Given the description of an element on the screen output the (x, y) to click on. 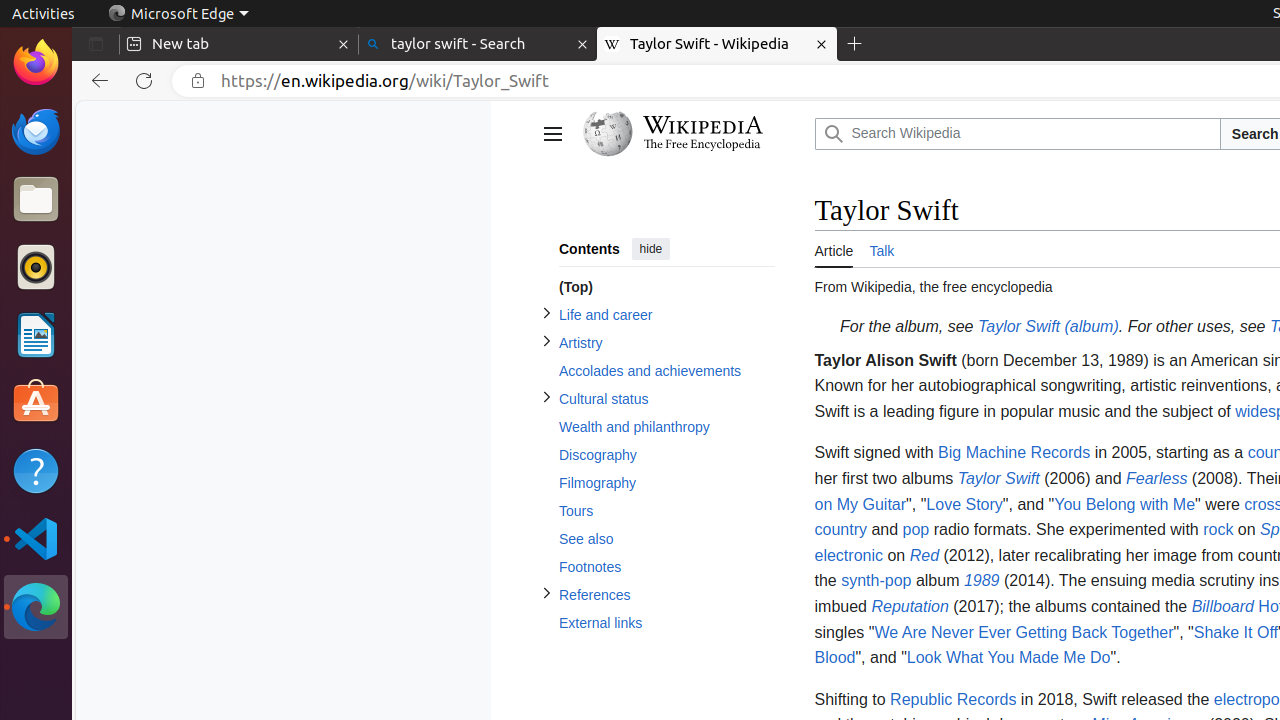
View site information Element type: push-button (198, 81)
Cultural status Element type: link (666, 399)
Tours Element type: link (666, 511)
Rhythmbox Element type: push-button (36, 267)
Firefox Web Browser Element type: push-button (36, 63)
